Given the description of an element on the screen output the (x, y) to click on. 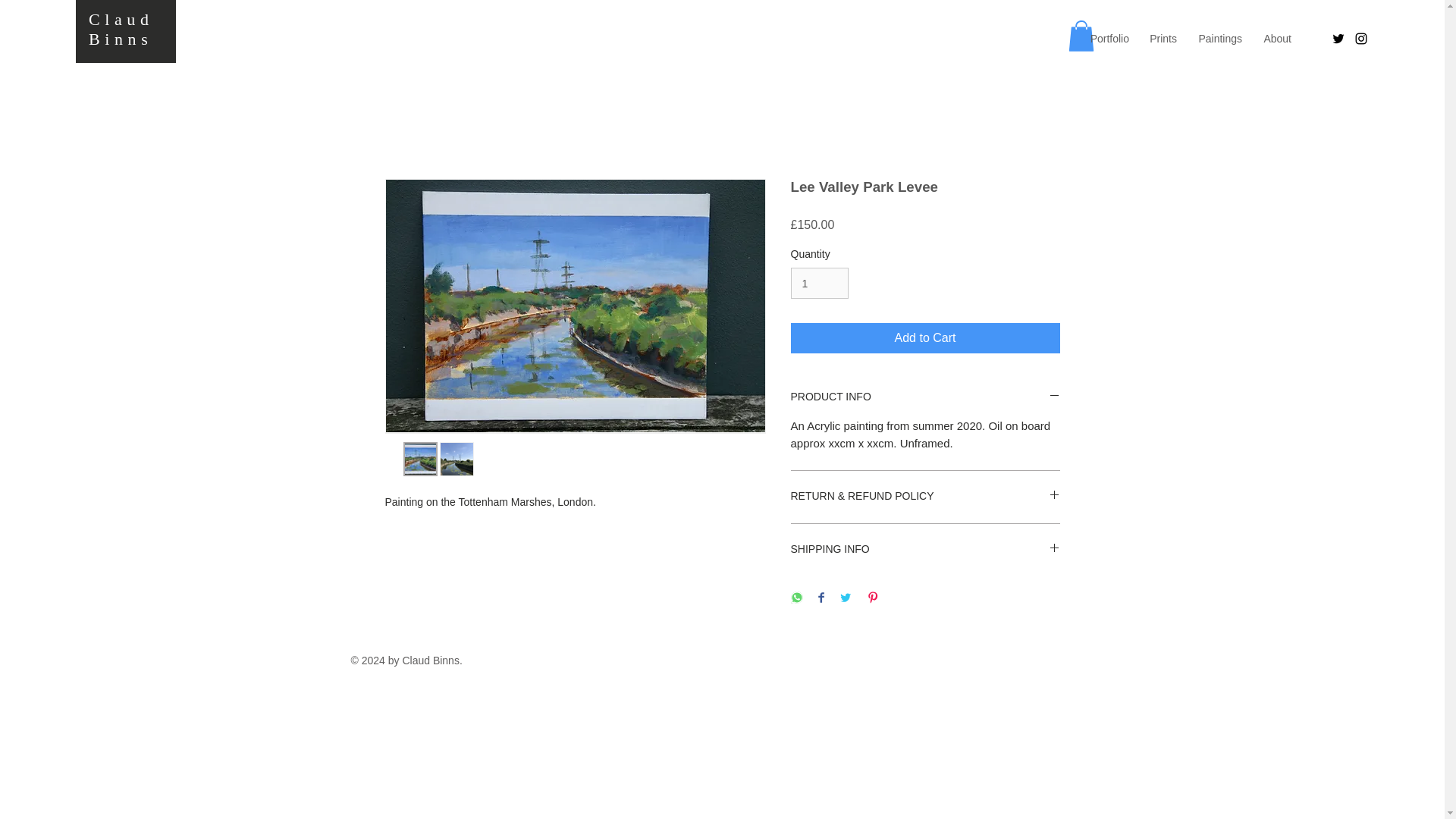
Portfolio (1107, 38)
Paintings (1219, 38)
Claud (121, 18)
PRODUCT INFO (924, 397)
Add to Cart (924, 337)
About (1276, 38)
Prints (1162, 38)
SHIPPING INFO (924, 549)
1 (818, 282)
